Given the description of an element on the screen output the (x, y) to click on. 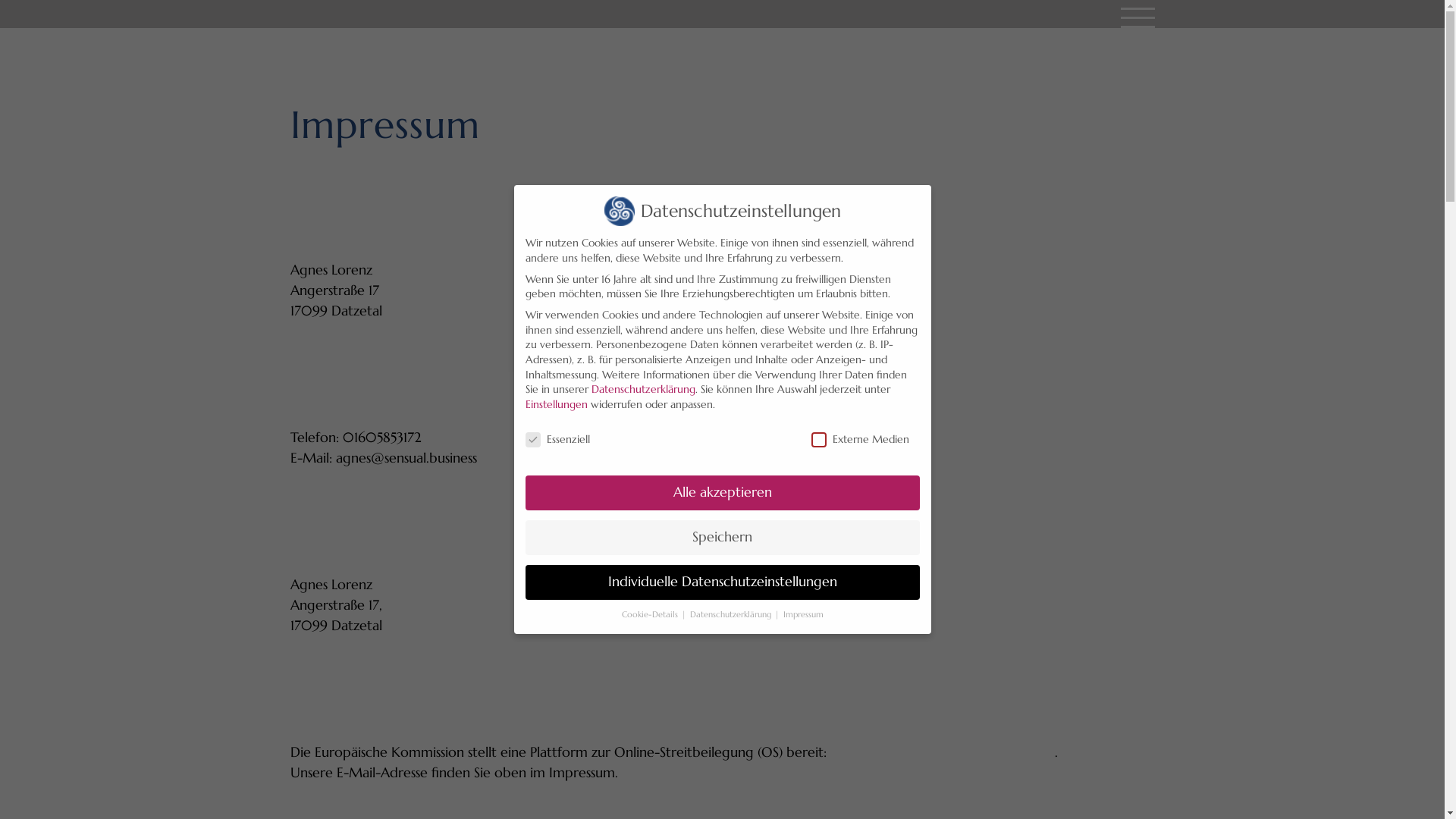
Einstellungen Element type: text (555, 404)
Cookie-Details Element type: text (650, 614)
Impressum Element type: text (802, 614)
Alle akzeptieren Element type: text (721, 492)
Speichern Element type: text (721, 537)
https://ec.europa.eu/consumers/odr Element type: text (941, 751)
Individuelle Datenschutzeinstellungen Element type: text (721, 581)
